Given the description of an element on the screen output the (x, y) to click on. 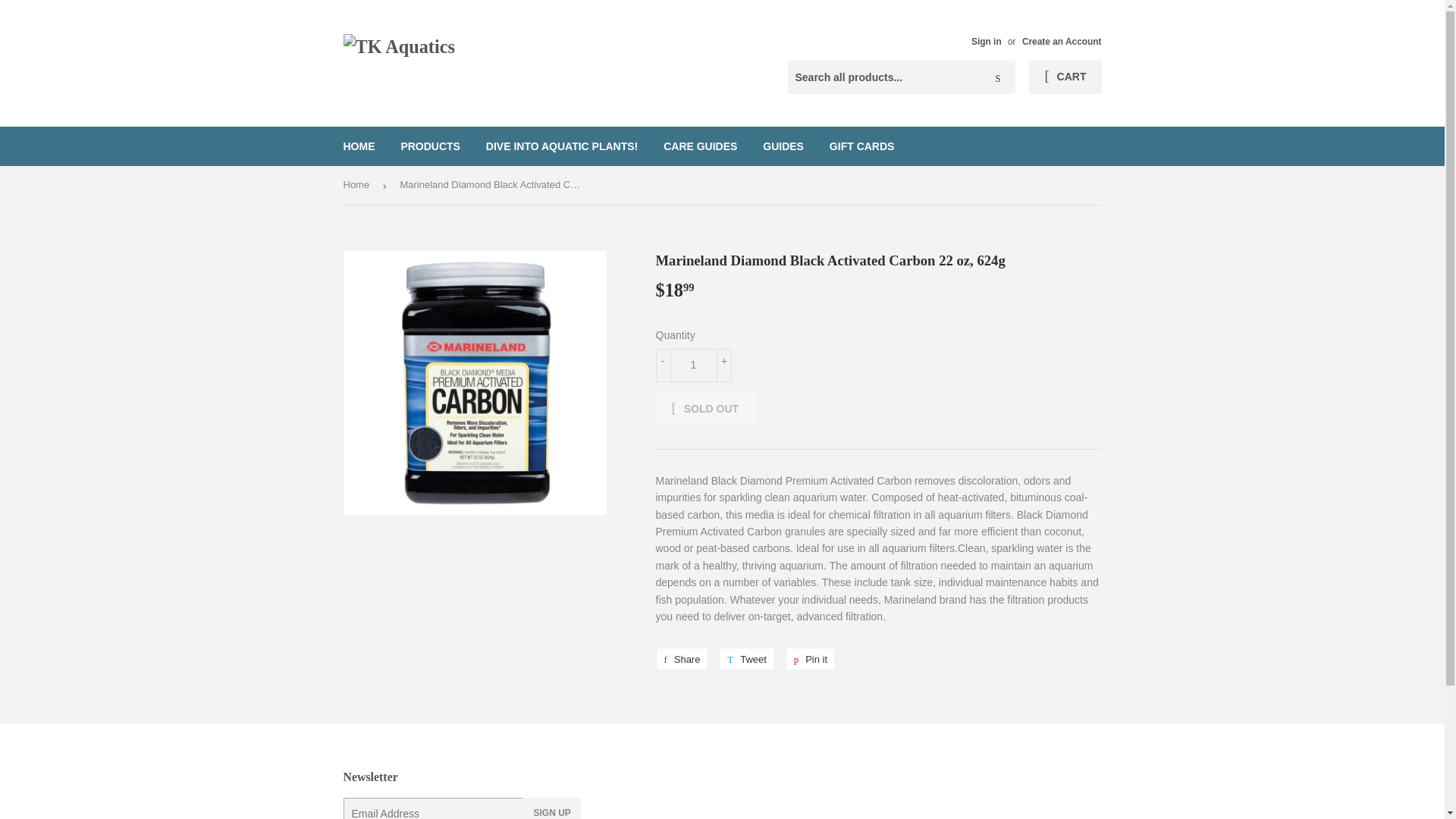
HOME (359, 146)
Pin on Pinterest (810, 658)
1 (681, 658)
SIGN UP (692, 365)
SOLD OUT (550, 808)
Share on Facebook (704, 409)
Sign in (681, 658)
CART (986, 41)
